Given the description of an element on the screen output the (x, y) to click on. 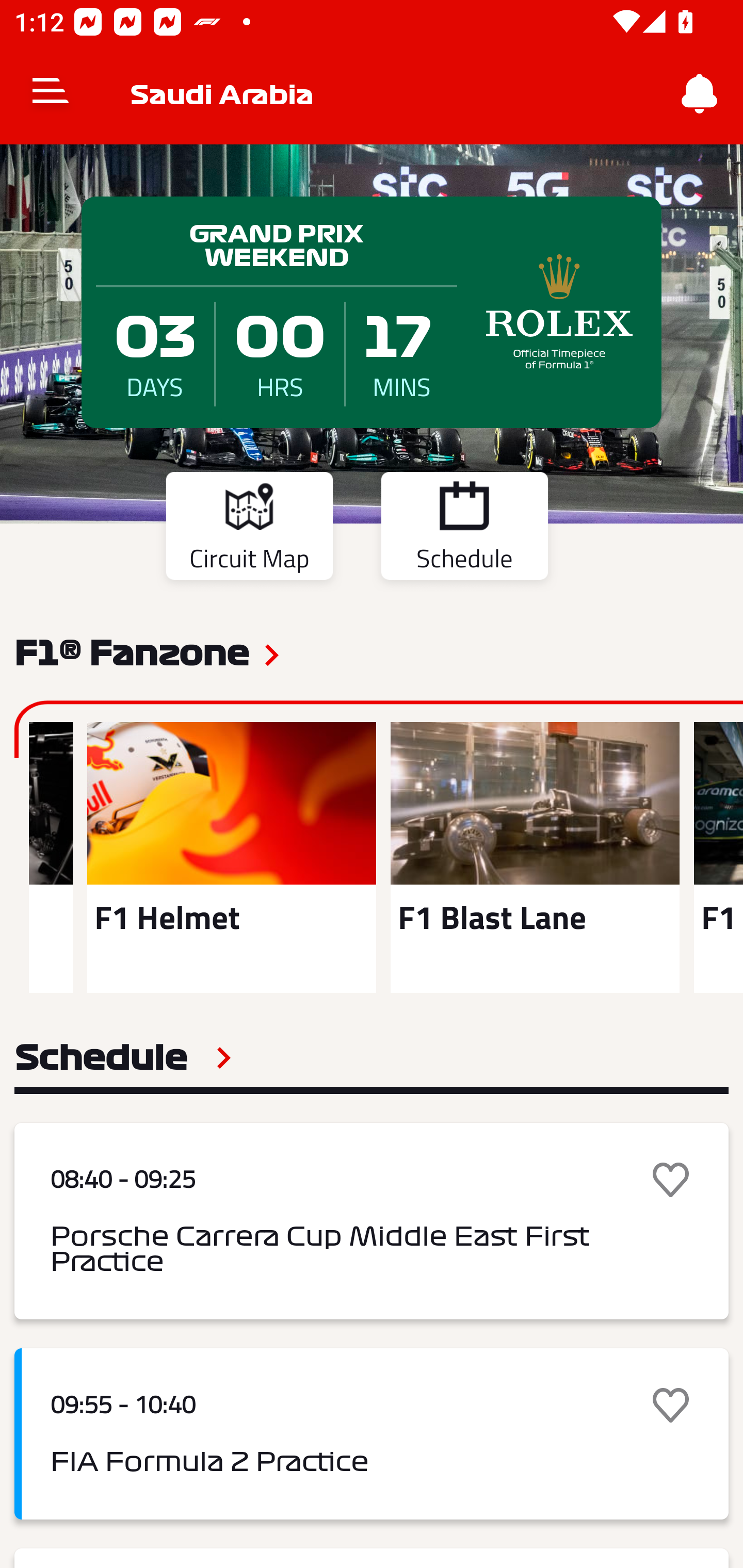
Navigate up (50, 93)
Notifications (699, 93)
Circuit Map (249, 528)
Schedule (464, 528)
F1® Fanzone (131, 651)
F1 Helmet (230, 857)
F1 Blast Lane (534, 857)
Schedule (122, 1057)
09:55 - 10:40 FIA Formula 2 Practice (371, 1433)
